Given the description of an element on the screen output the (x, y) to click on. 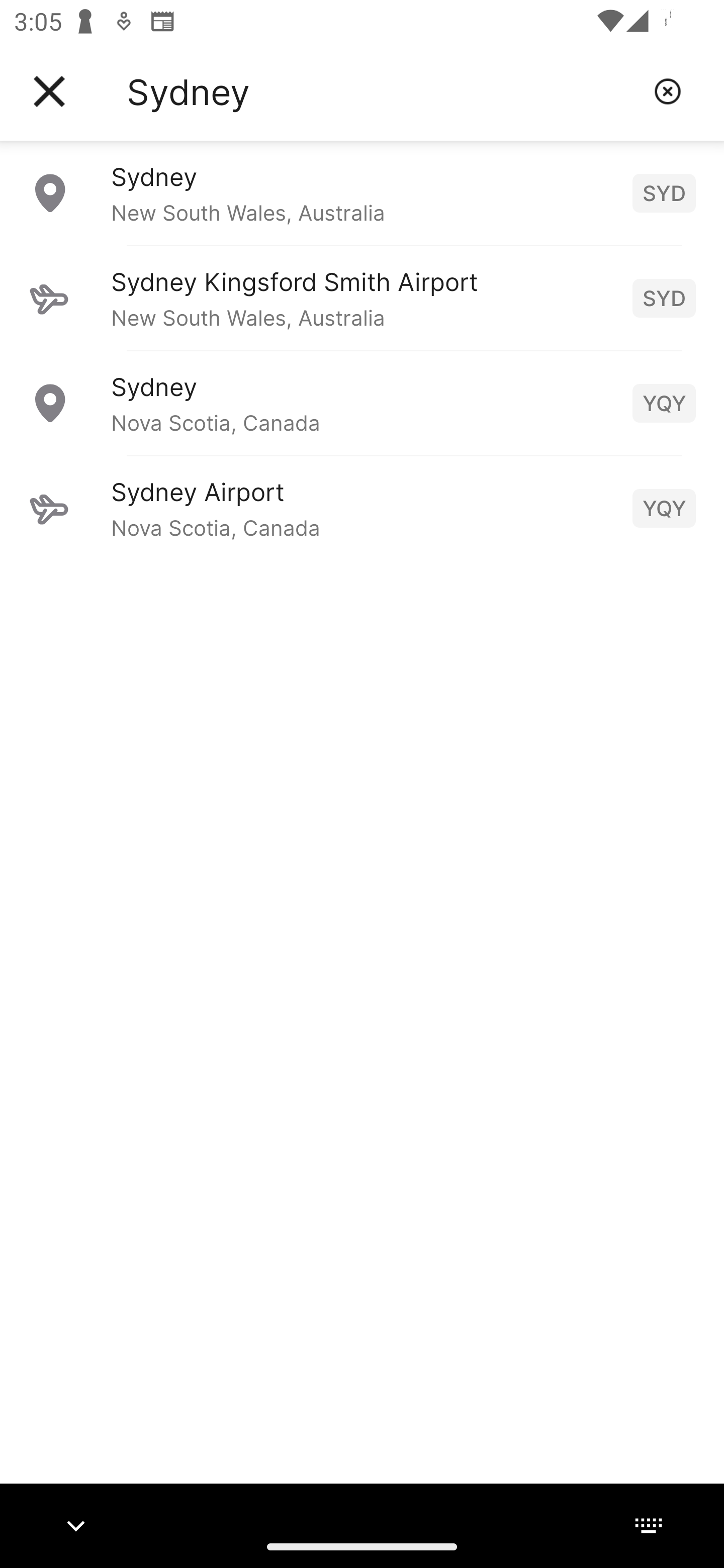
Sydney (382, 91)
Sydney New South Wales, Australia SYD (362, 192)
Sydney Nova Scotia, Canada YQY (362, 402)
Sydney Airport Nova Scotia, Canada YQY (362, 507)
